Given the description of an element on the screen output the (x, y) to click on. 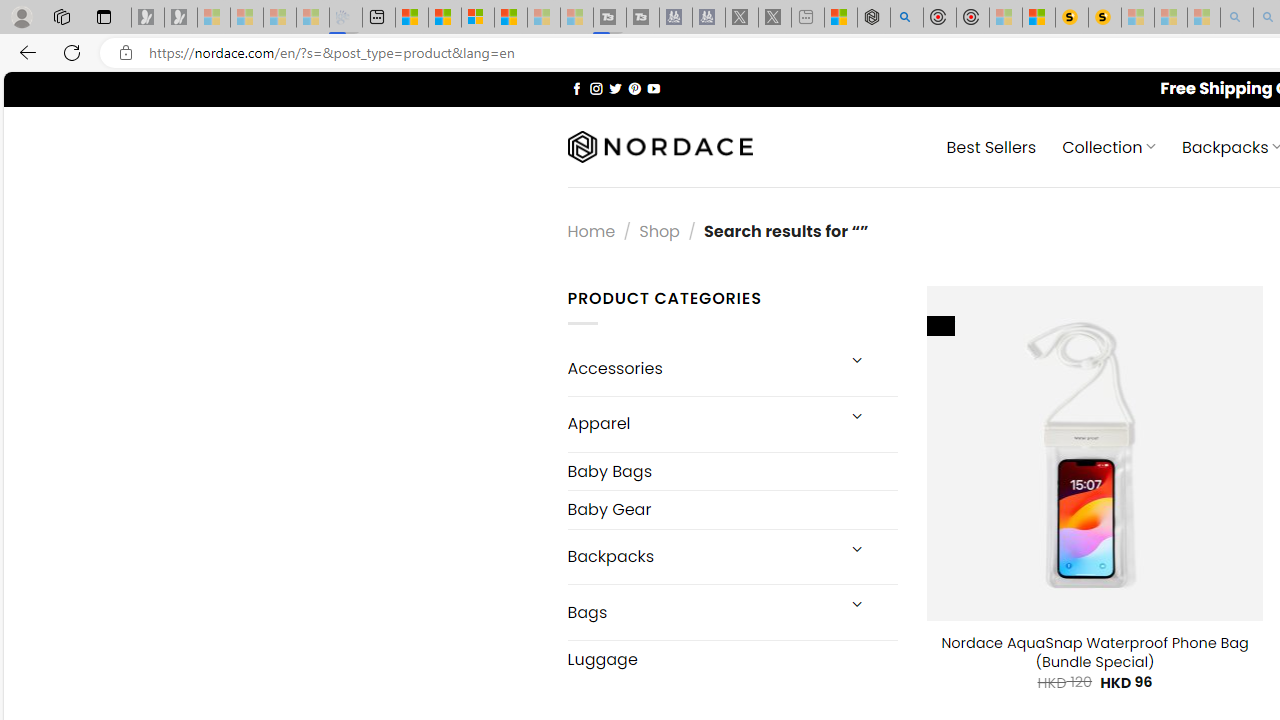
Newsletter Sign Up - Sleeping (181, 17)
Nordace - Summer Adventures 2024 (873, 17)
Follow on Twitter (615, 88)
Follow on Facebook (576, 88)
Home (591, 230)
View site information (125, 53)
Back (24, 52)
Microsoft Start - Sleeping (543, 17)
